Given the description of an element on the screen output the (x, y) to click on. 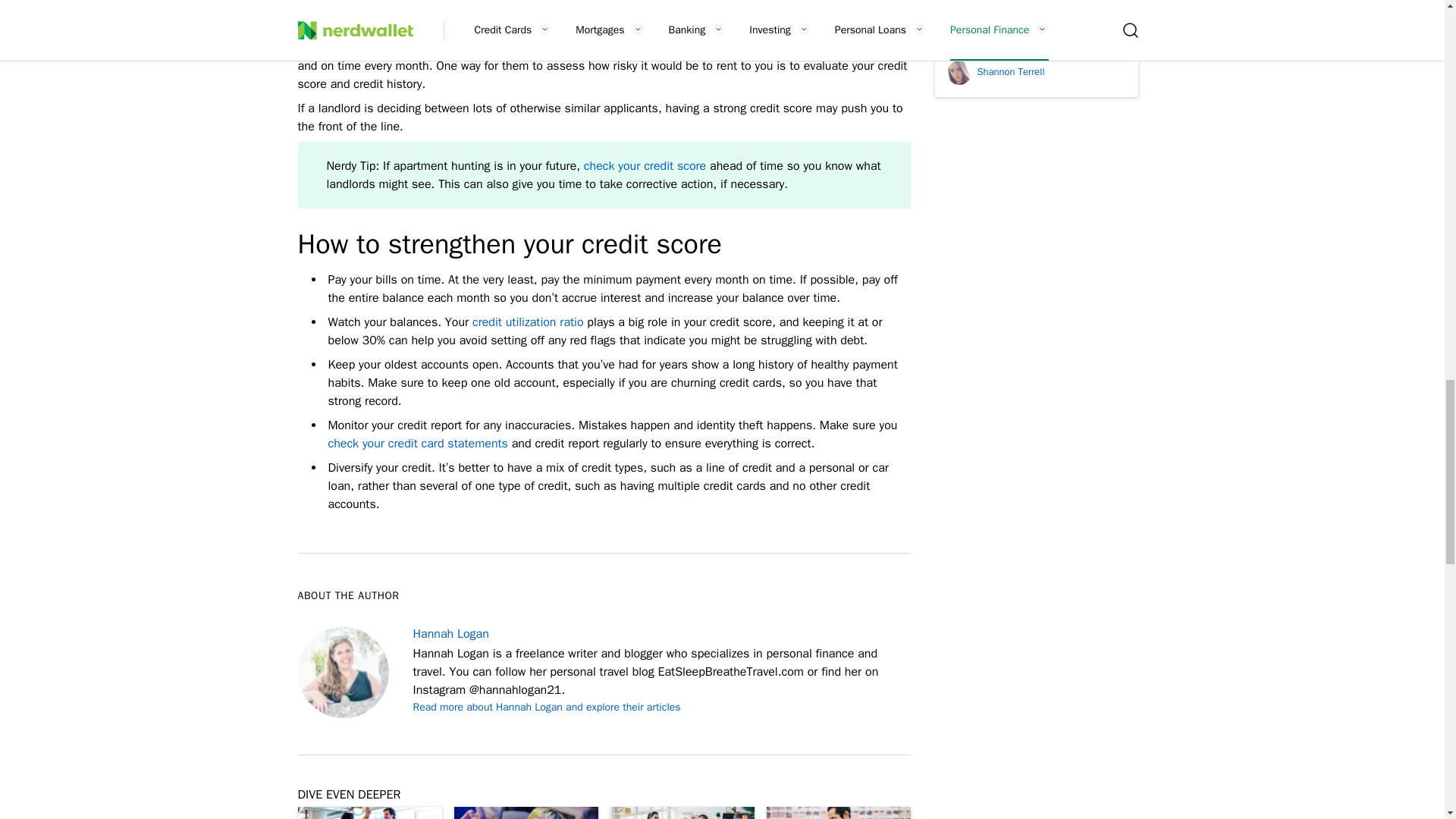
Read more about Hannah Logan (545, 707)
